Given the description of an element on the screen output the (x, y) to click on. 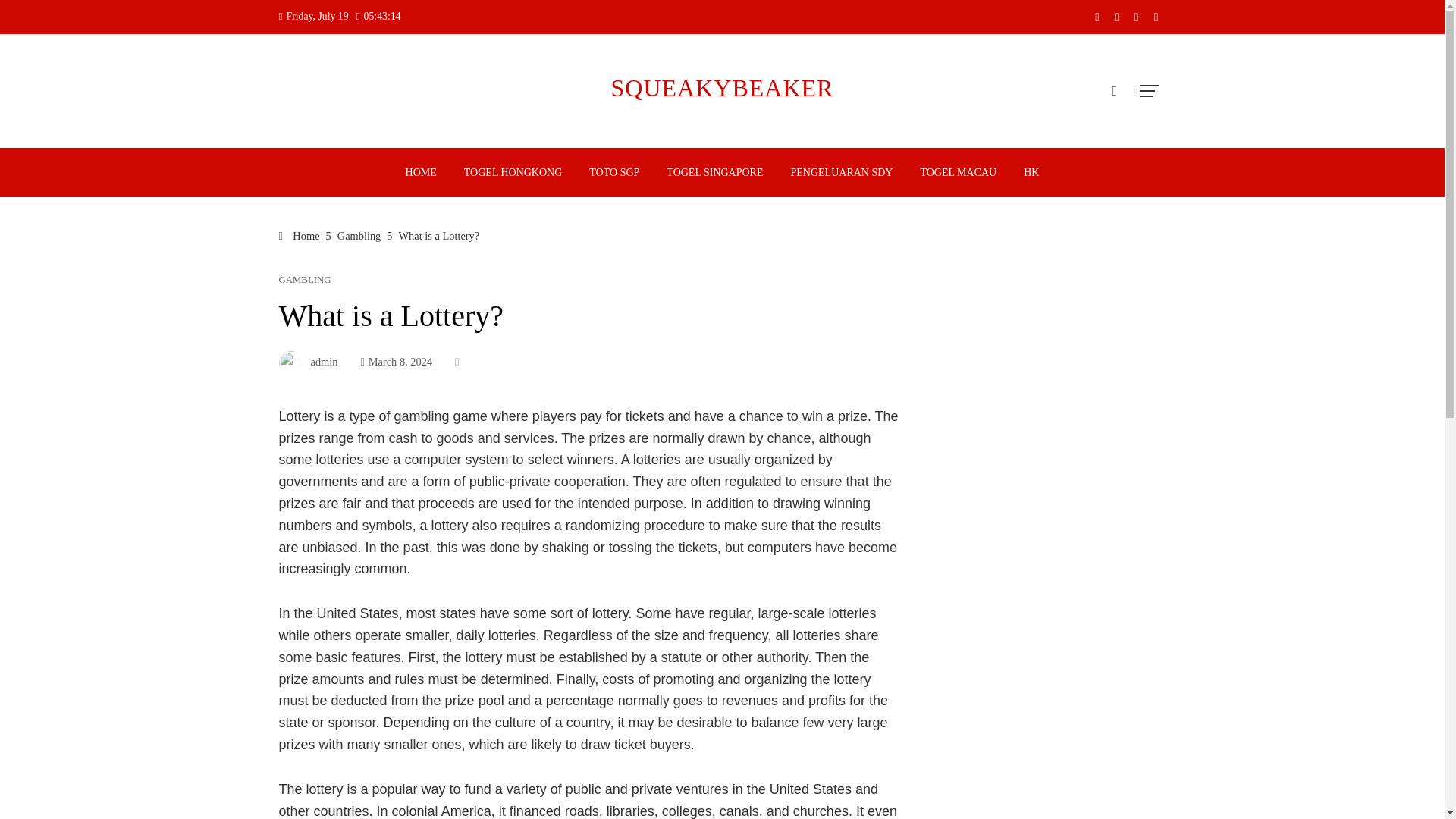
SQUEAKYBEAKER (722, 87)
GAMBLING (305, 280)
Gambling (359, 235)
TOGEL MACAU (957, 172)
TOGEL SINGAPORE (714, 172)
TOTO SGP (614, 172)
PENGELUARAN SDY (841, 172)
TOGEL HONGKONG (512, 172)
HOME (421, 172)
Home (299, 235)
